Given the description of an element on the screen output the (x, y) to click on. 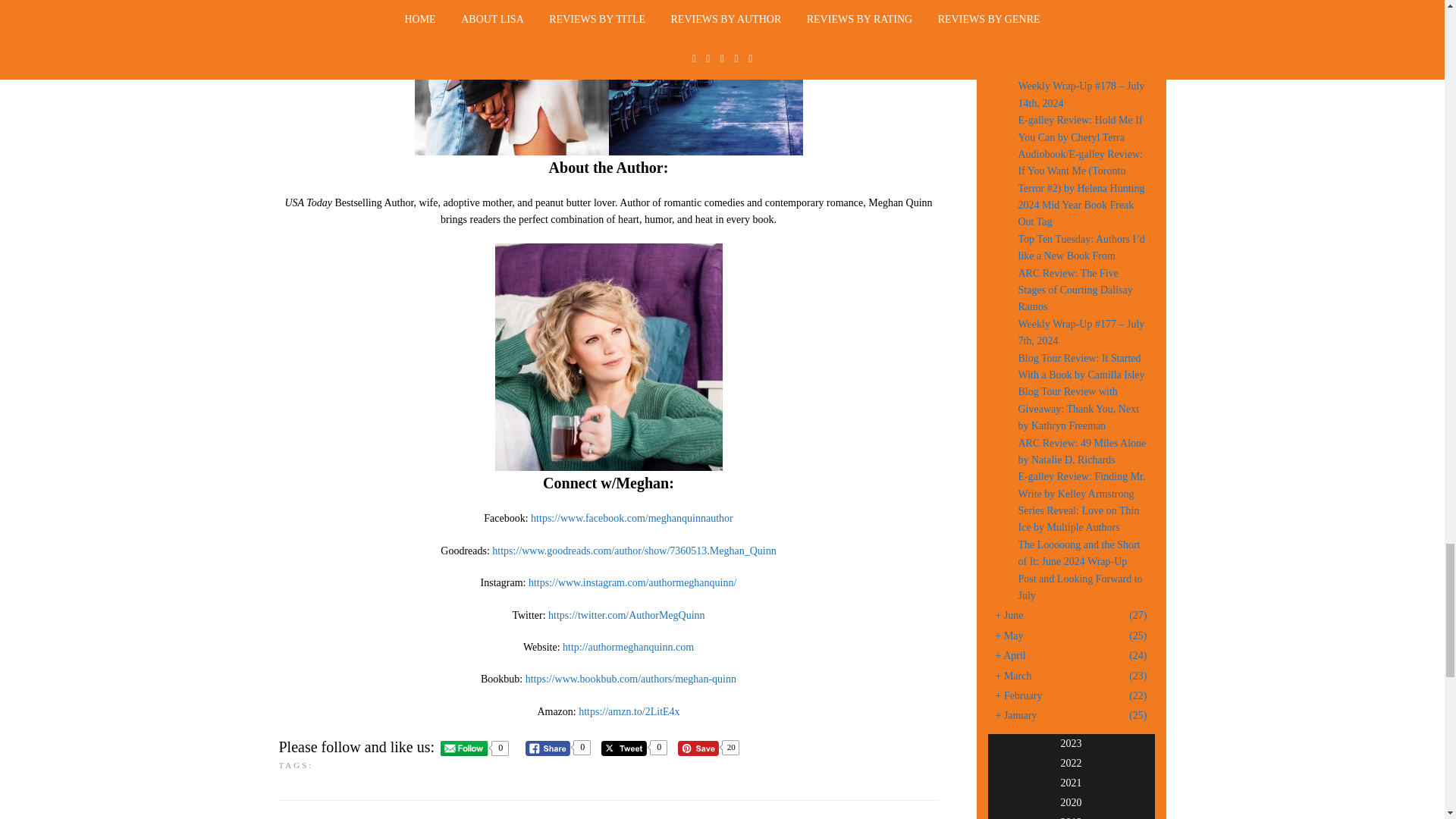
Tweet (623, 748)
Facebook Share (547, 748)
Pin Share (698, 748)
